Given the description of an element on the screen output the (x, y) to click on. 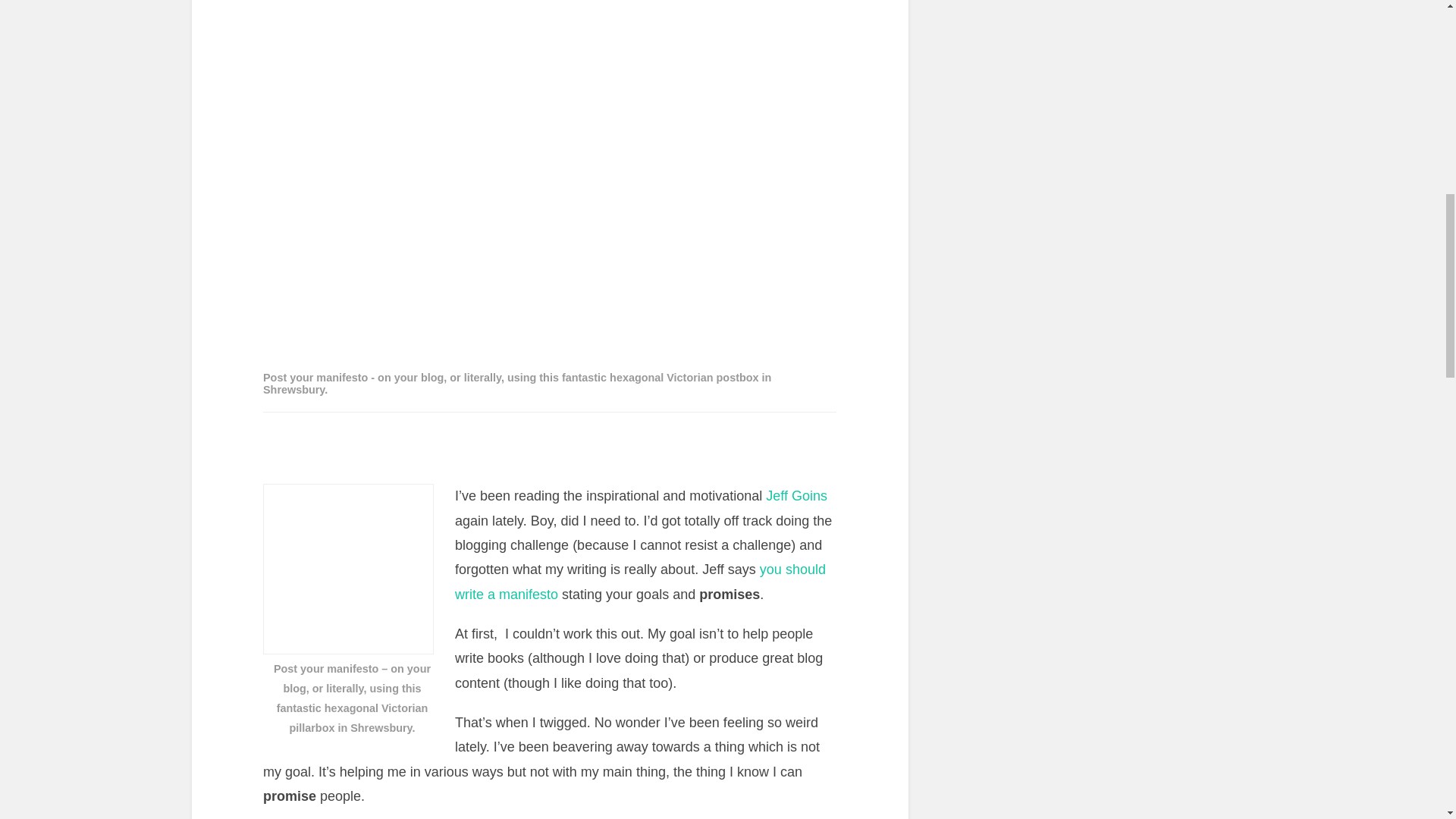
Jeff Goins (796, 495)
you should write a manifesto (639, 581)
